Given the description of an element on the screen output the (x, y) to click on. 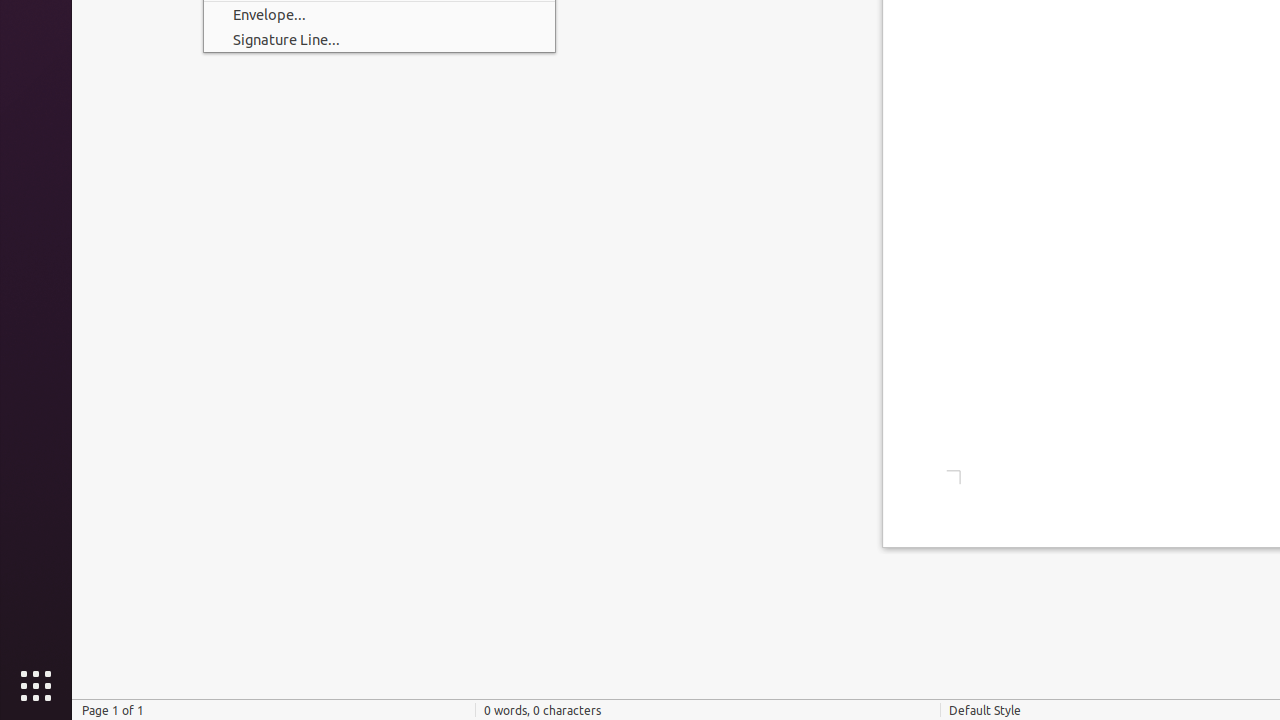
Show Applications Element type: toggle-button (36, 686)
Envelope... Element type: menu-item (379, 14)
Signature Line... Element type: menu-item (379, 39)
